Given the description of an element on the screen output the (x, y) to click on. 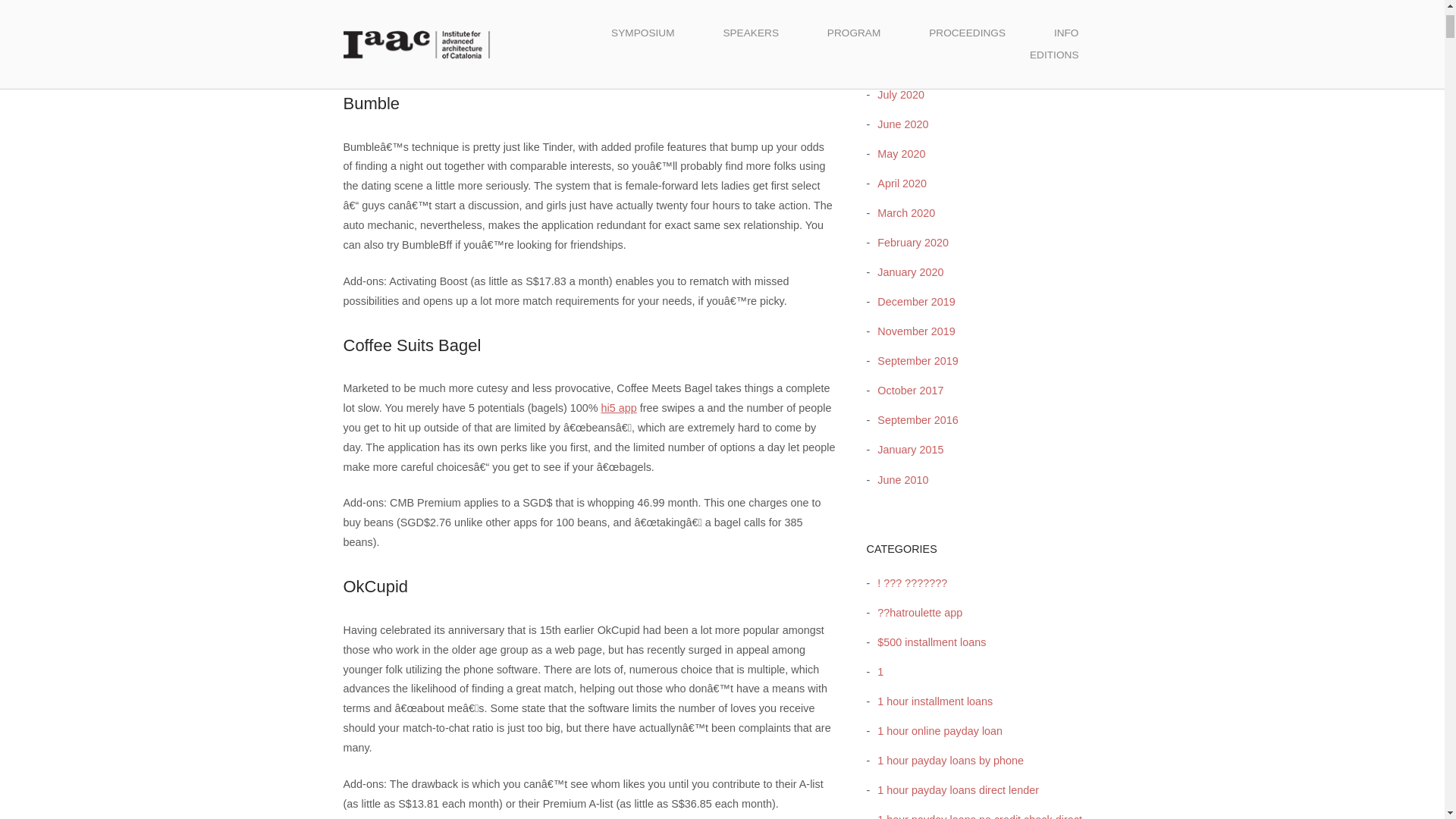
hi5 app (617, 408)
September 2020 (913, 35)
October 2020 (906, 6)
